Given the description of an element on the screen output the (x, y) to click on. 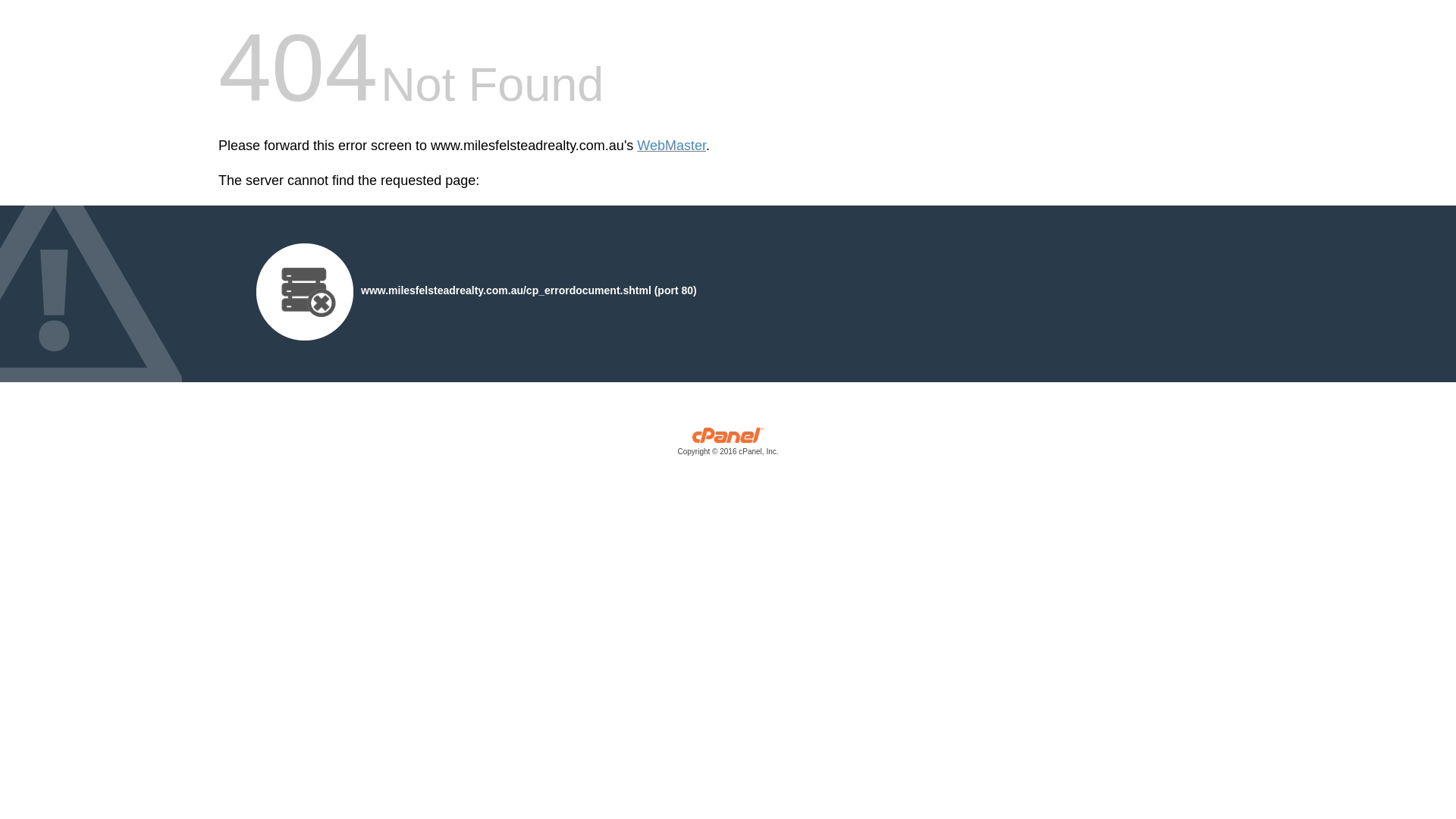
WebMaster Element type: text (671, 145)
